Given the description of an element on the screen output the (x, y) to click on. 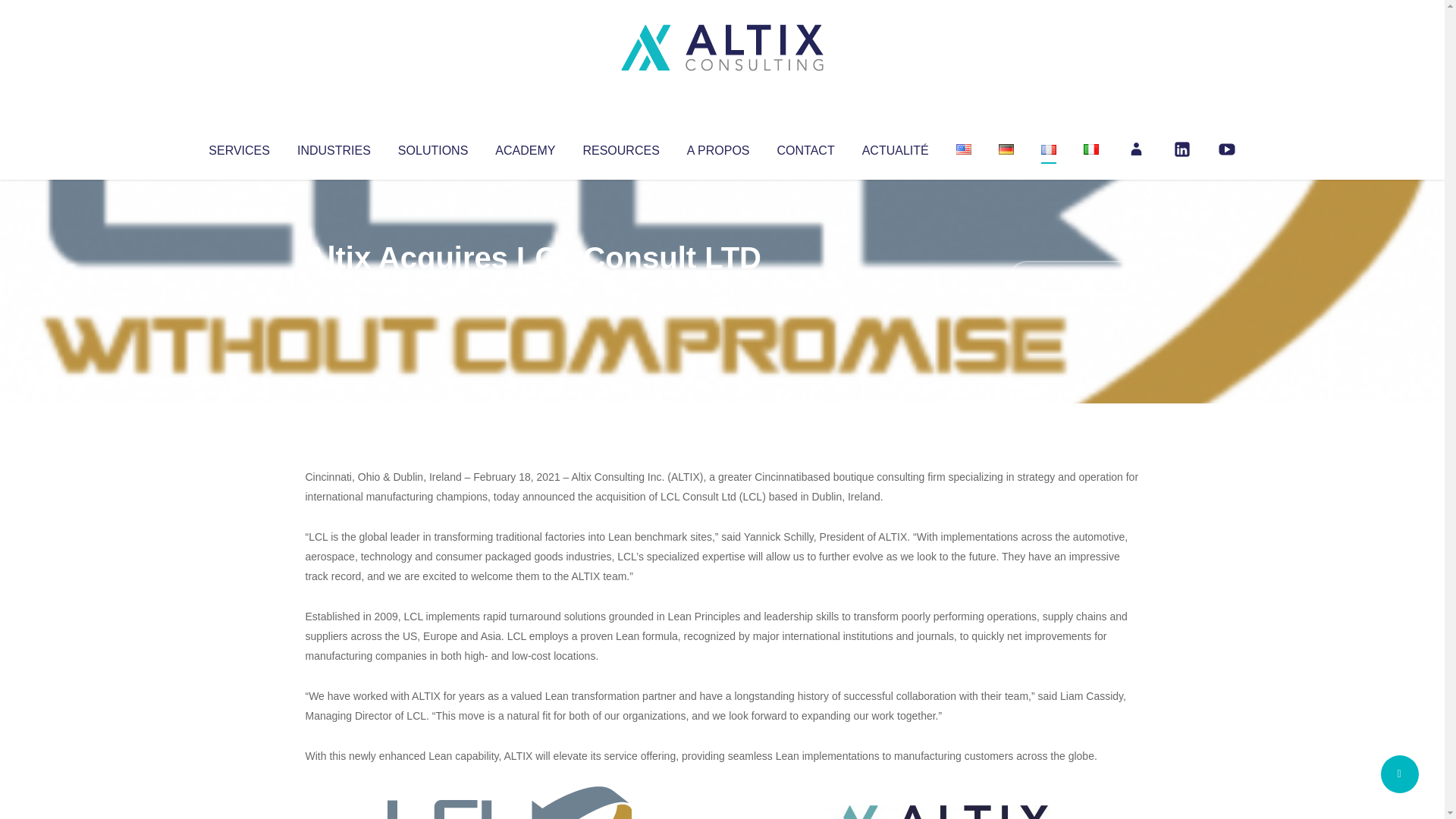
RESOURCES (620, 146)
Altix (333, 287)
Articles par Altix (333, 287)
ACADEMY (524, 146)
SOLUTIONS (432, 146)
INDUSTRIES (334, 146)
No Comments (1073, 278)
Uncategorized (530, 287)
SERVICES (238, 146)
A PROPOS (718, 146)
